Given the description of an element on the screen output the (x, y) to click on. 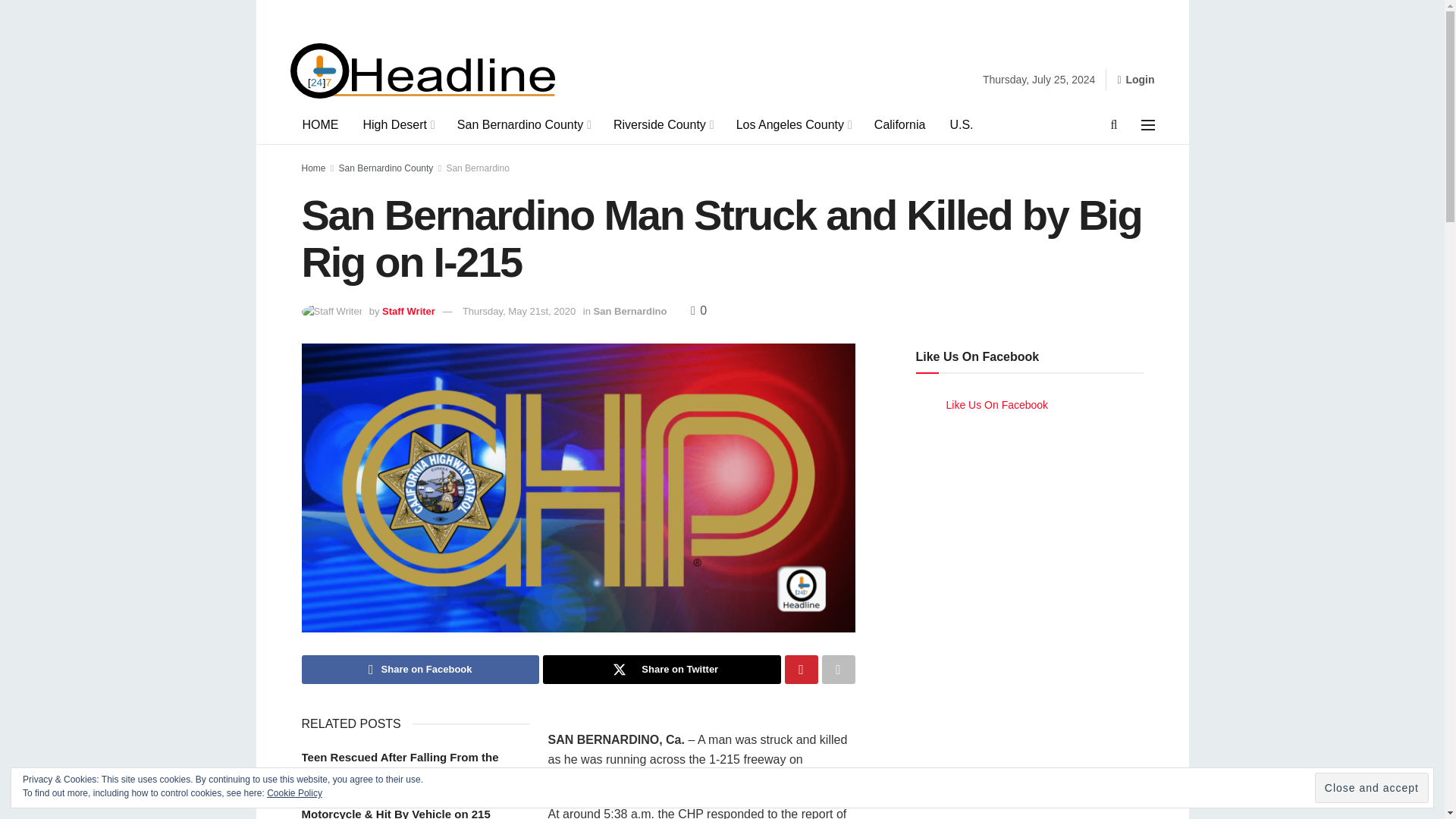
Los Angeles County (792, 125)
HOME (319, 125)
Login (1135, 79)
High Desert (397, 125)
San Bernardino County (523, 125)
Close and accept (1371, 788)
U.S. (961, 125)
Riverside County (662, 125)
California (899, 125)
